Given the description of an element on the screen output the (x, y) to click on. 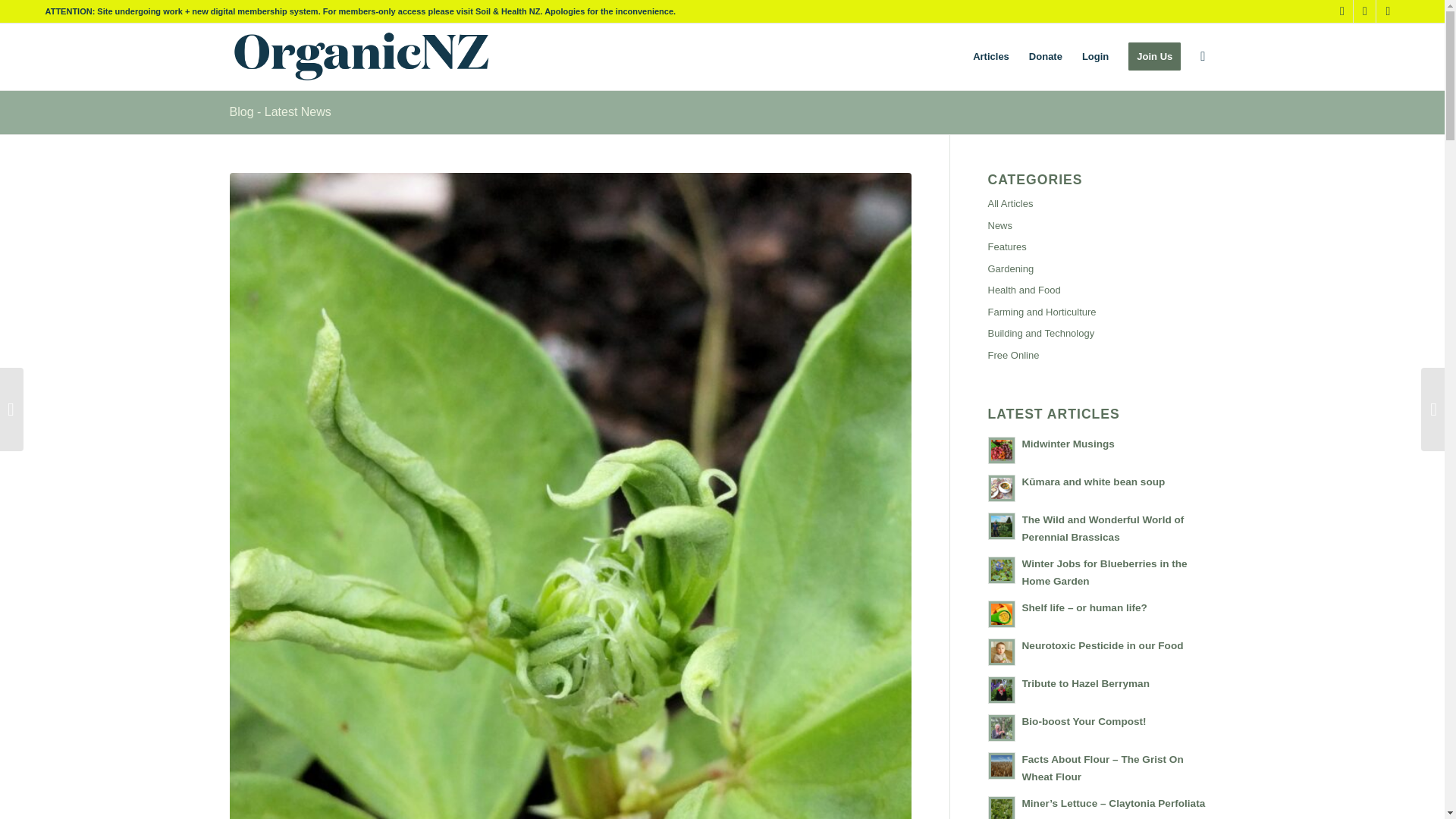
Facebook (1341, 11)
Permanent Link: Blog - Latest News (279, 111)
Blog - Latest News (279, 111)
LinkedIn (1387, 11)
ONZ-Masthead-2024-1 (360, 56)
Join Us (1154, 56)
Instagram (1364, 11)
